Given the description of an element on the screen output the (x, y) to click on. 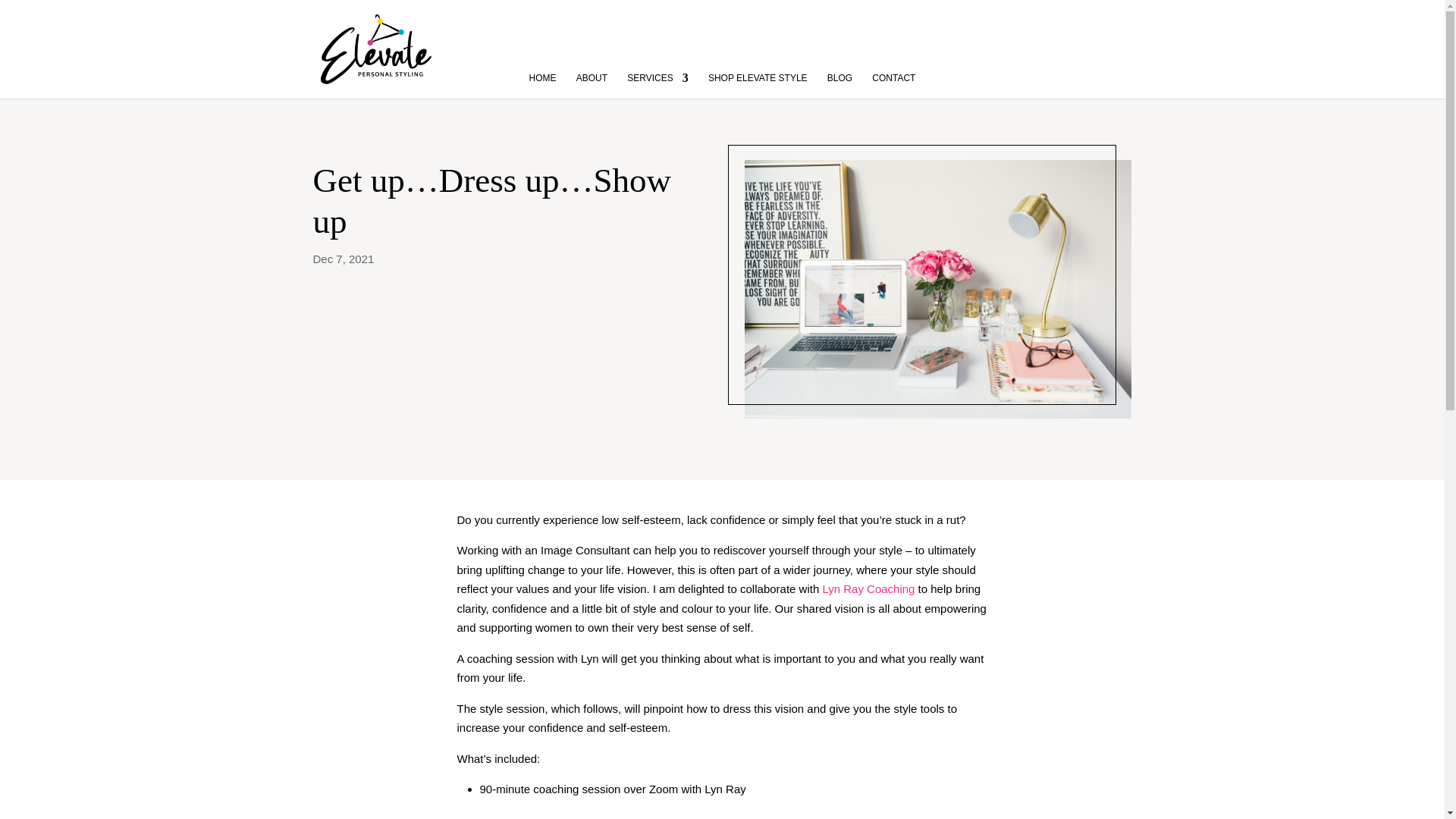
BLOG (839, 73)
arnel-hasanovic-MNd-Rka1o0Q-unsplash (937, 288)
ABOUT (591, 73)
Lyn Ray Coaching (868, 588)
SHOP ELEVATE STYLE (757, 73)
HOME (542, 73)
SERVICES (657, 73)
CONTACT (893, 73)
